Given the description of an element on the screen output the (x, y) to click on. 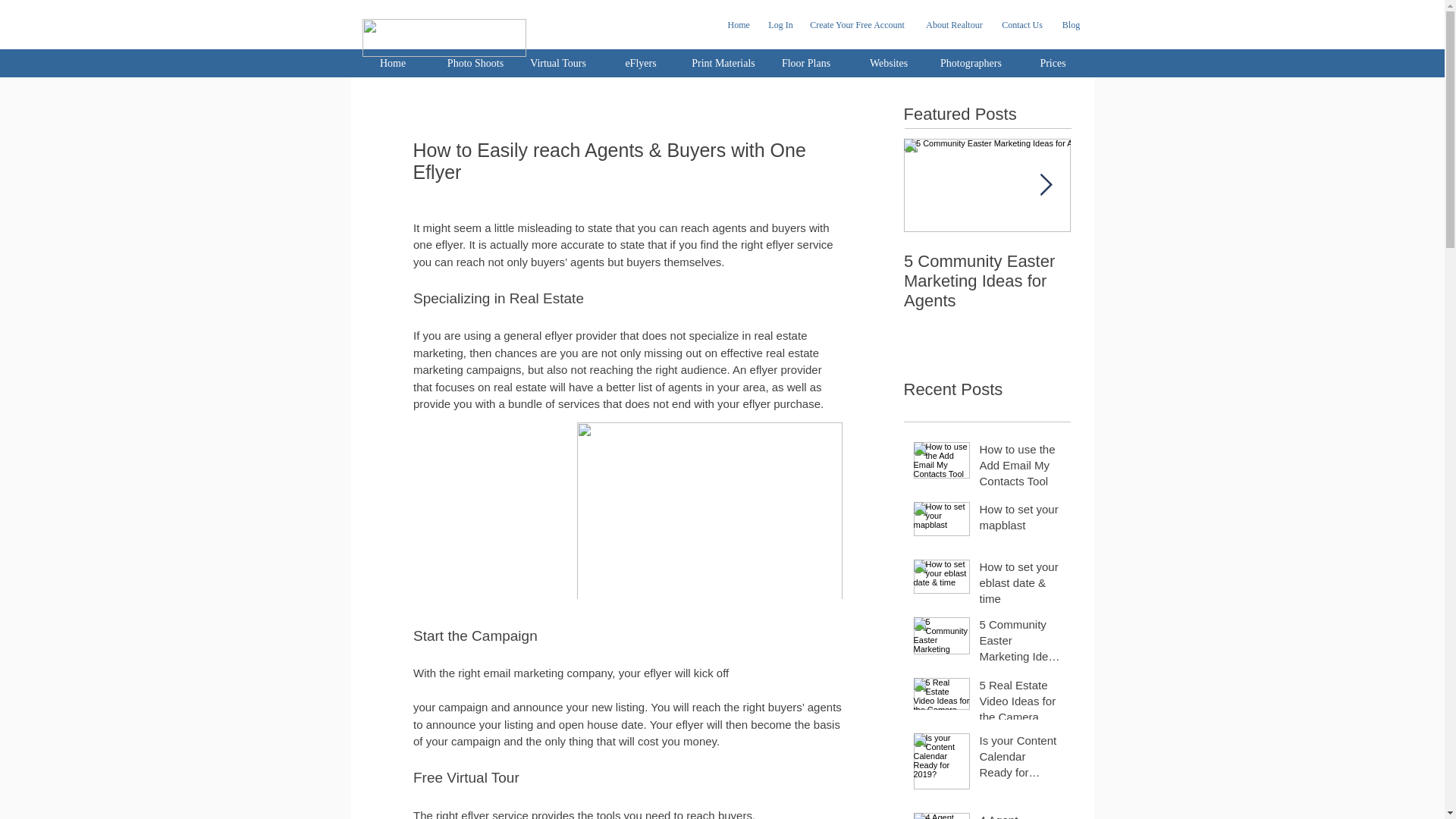
Photo Shoots (475, 62)
Log In (780, 24)
Home (392, 62)
5 Real Estate Video Ideas for the Camera Shy Agent (1153, 281)
How to use the Add Email My Contacts Tool (1020, 468)
Create Your Free Account (857, 24)
Home (743, 24)
Virtual Tours (557, 62)
Contact Us (1021, 24)
Floor Plans (806, 62)
Blog (1071, 24)
Print Materials (722, 62)
How to set your mapblast (1020, 519)
